Given the description of an element on the screen output the (x, y) to click on. 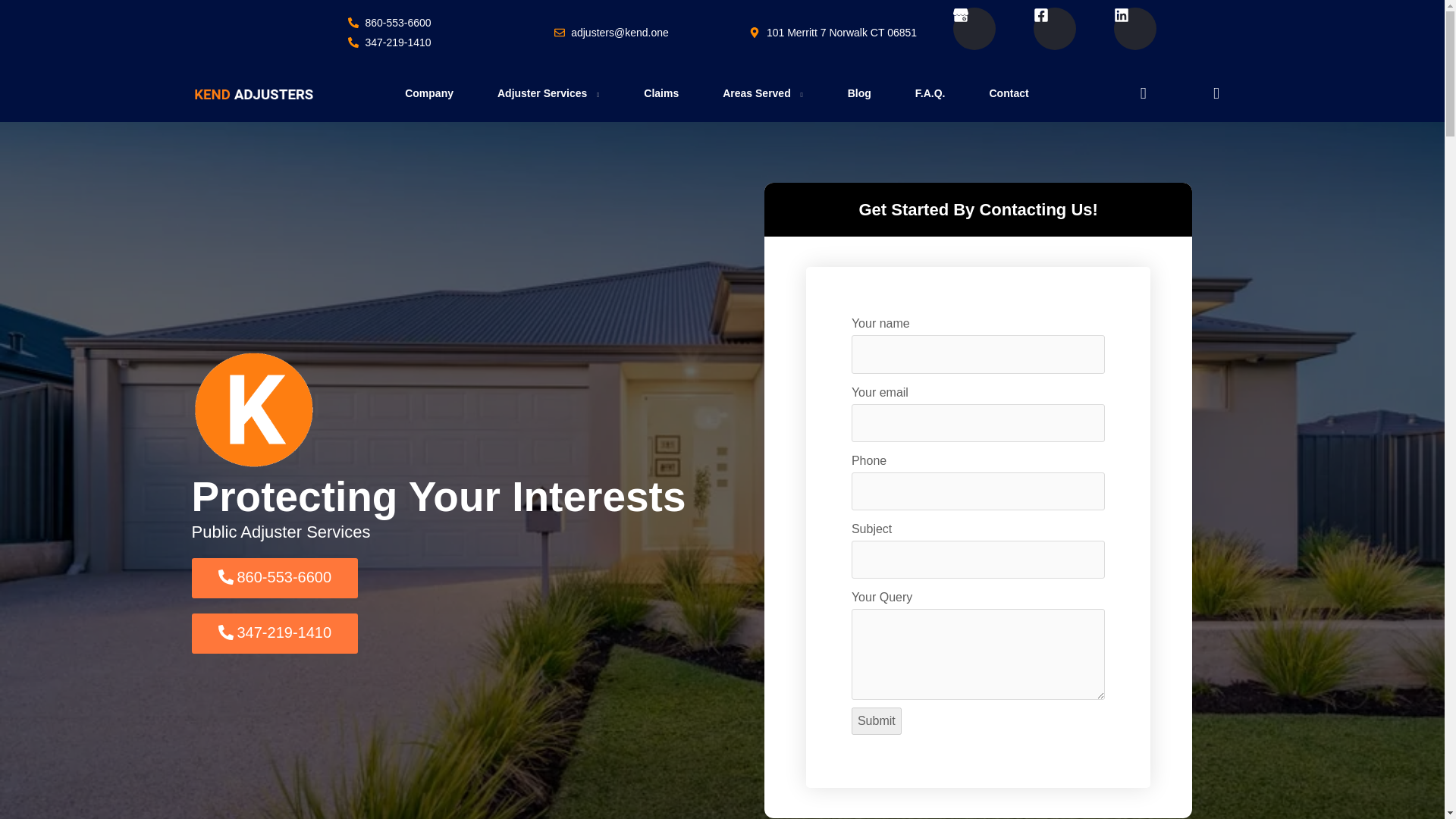
Company (428, 93)
860-553-6600 (389, 22)
Areas Served (762, 93)
Adjuster Services (548, 93)
Contact (1007, 93)
347-219-1410 (389, 42)
Submit (876, 720)
101 Merritt 7 Norwalk CT 06851 (832, 32)
